Given the description of an element on the screen output the (x, y) to click on. 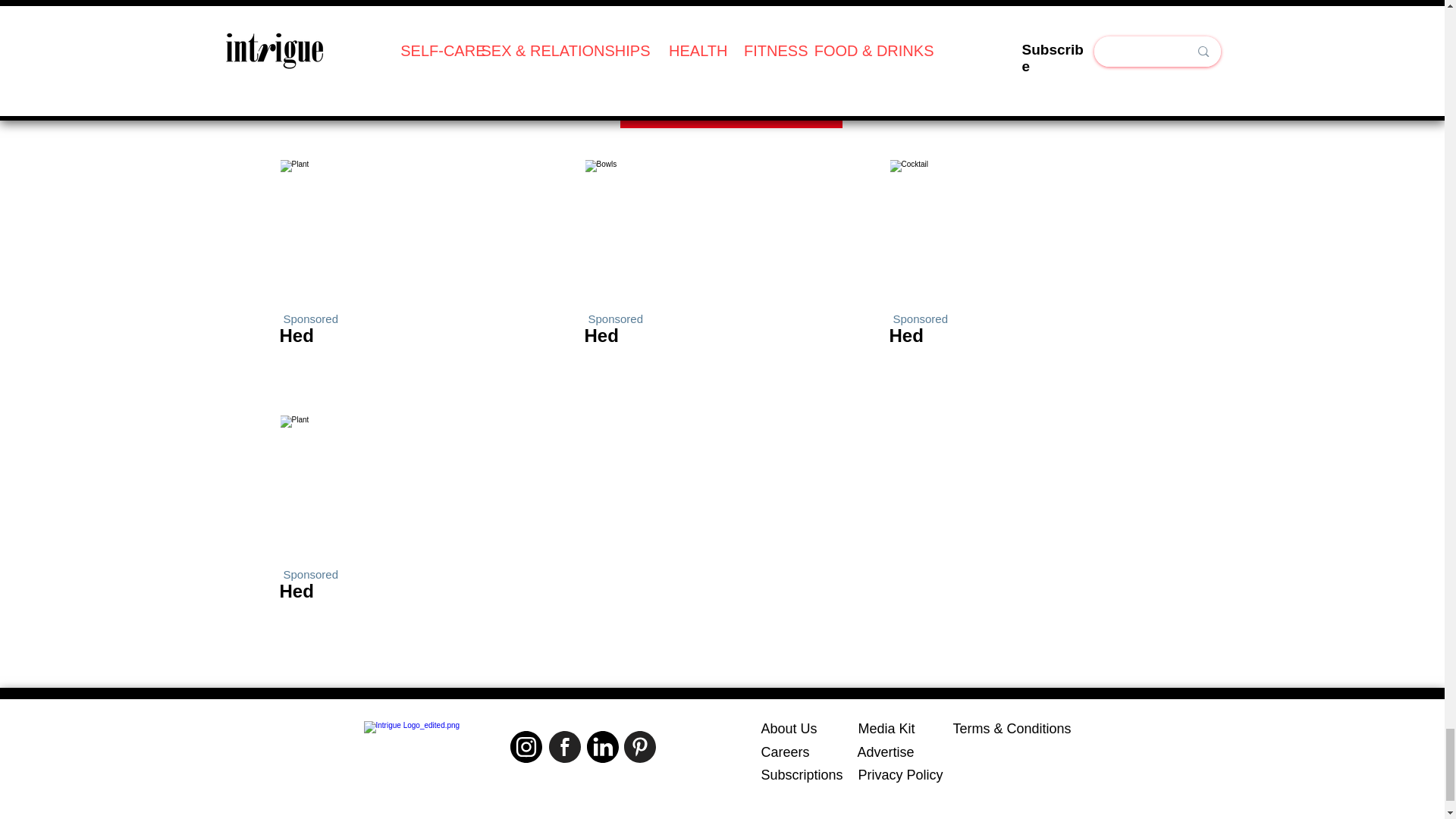
Careers (785, 752)
Subscriptions (802, 774)
Media Kit (887, 728)
About Us (788, 728)
